Given the description of an element on the screen output the (x, y) to click on. 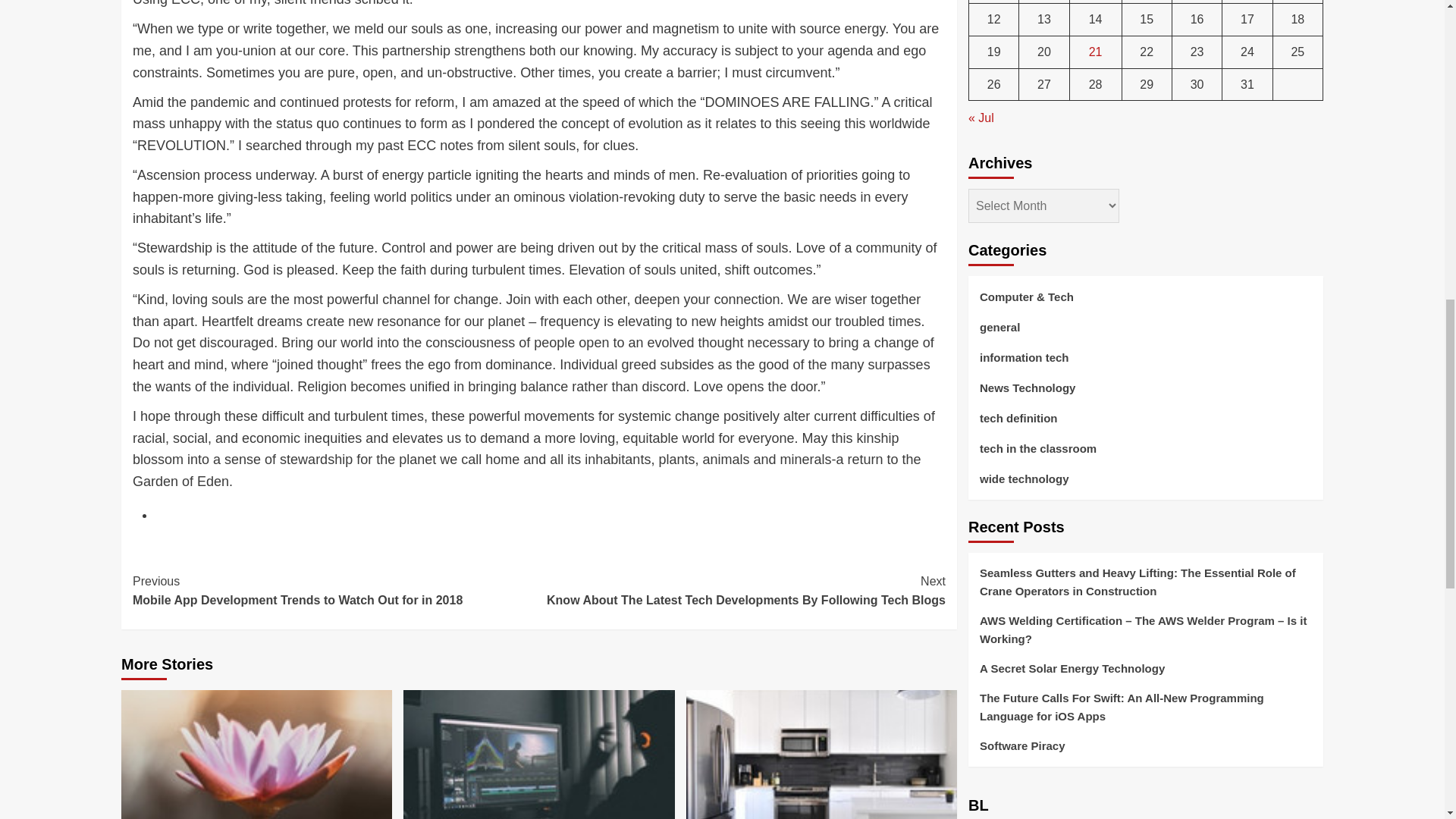
Important Knowledge in the Internet and New Technology (820, 754)
A Secret Solar Energy Technology (255, 754)
Seedbacklink (1010, 621)
New Technology for Hybrid Vehicles (538, 754)
